Given the description of an element on the screen output the (x, y) to click on. 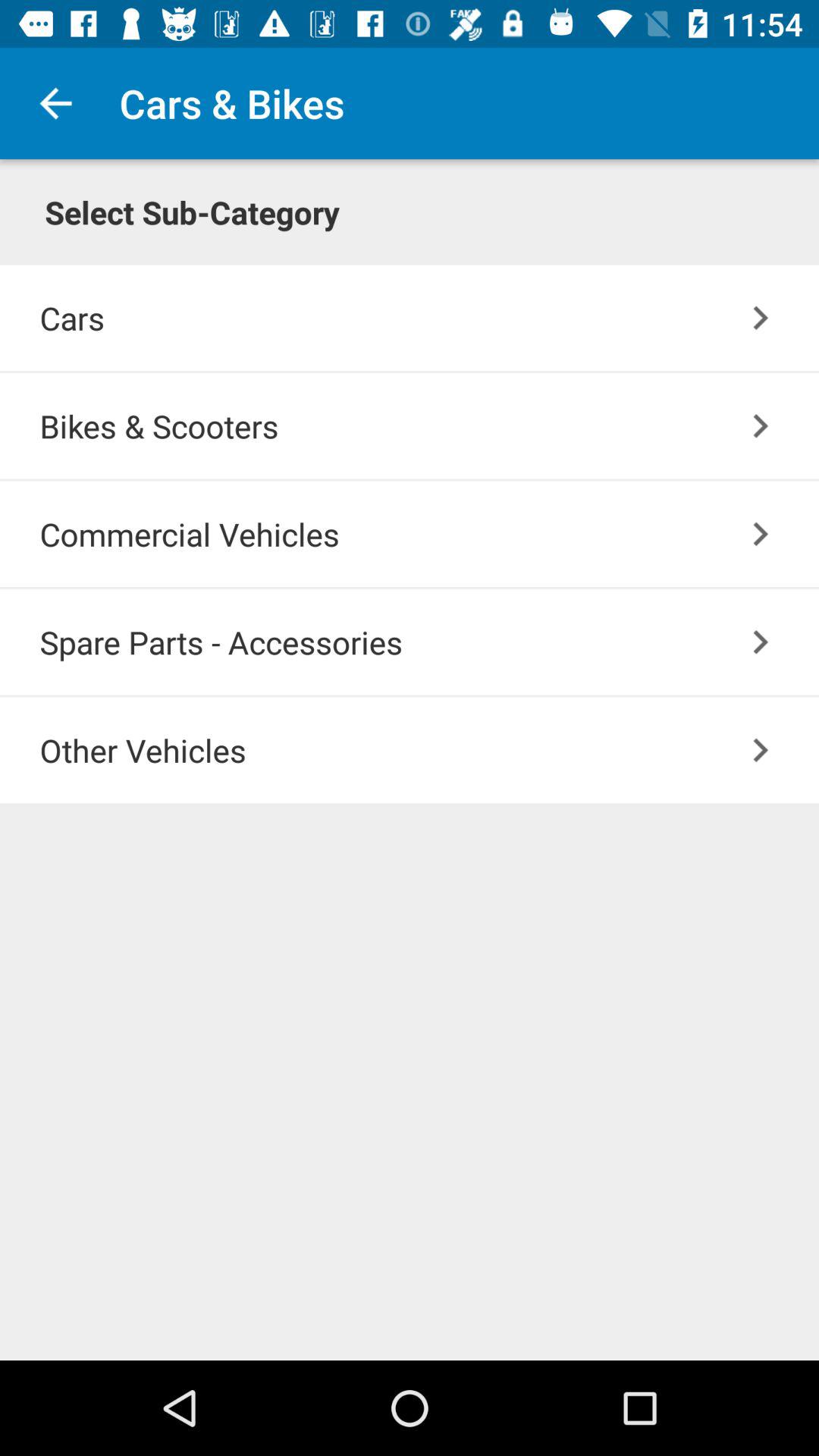
click the icon below the spare parts - accessories icon (760, 750)
